Given the description of an element on the screen output the (x, y) to click on. 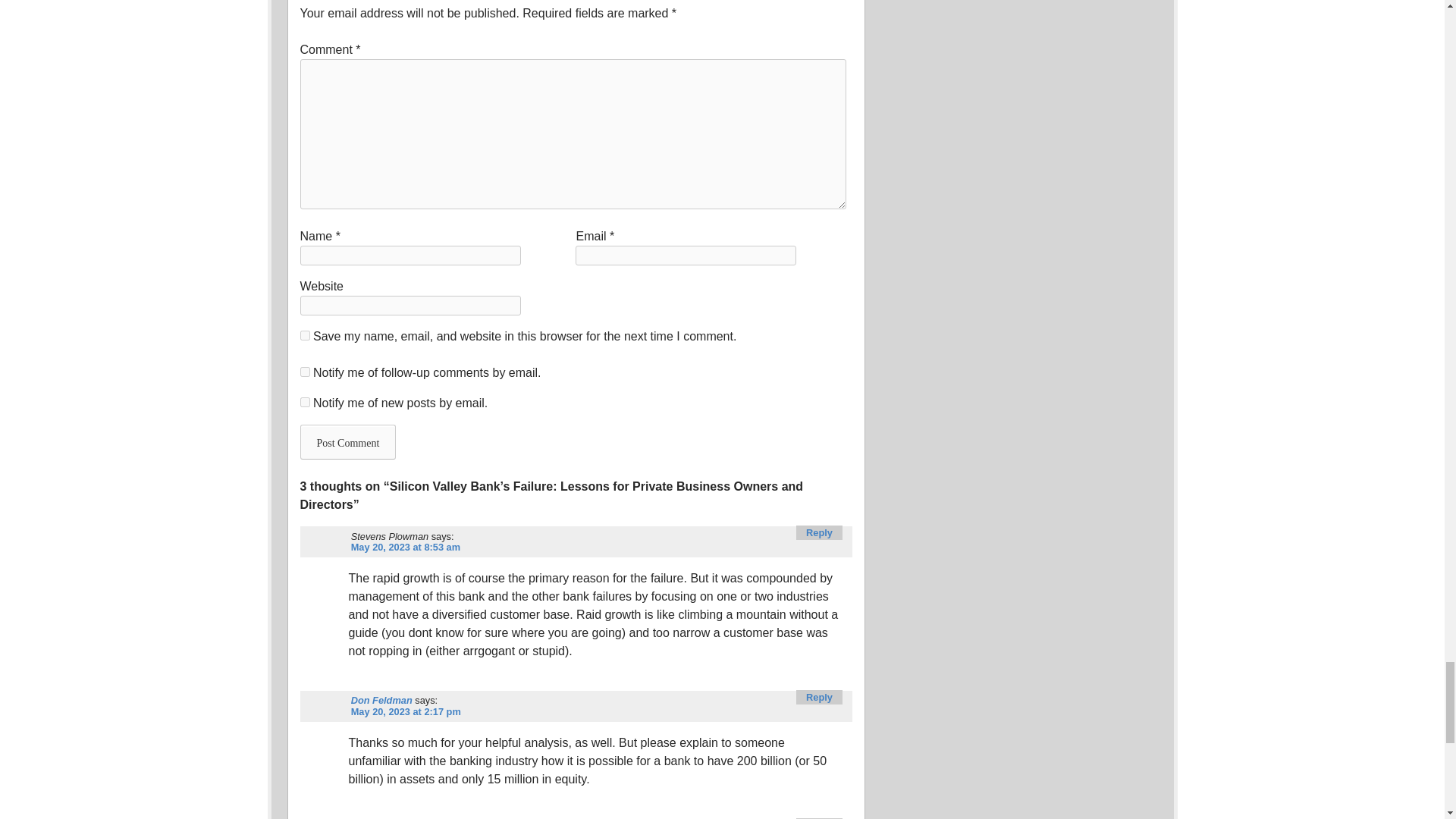
Post Comment (347, 442)
subscribe (304, 402)
subscribe (304, 371)
yes (304, 335)
